Given the description of an element on the screen output the (x, y) to click on. 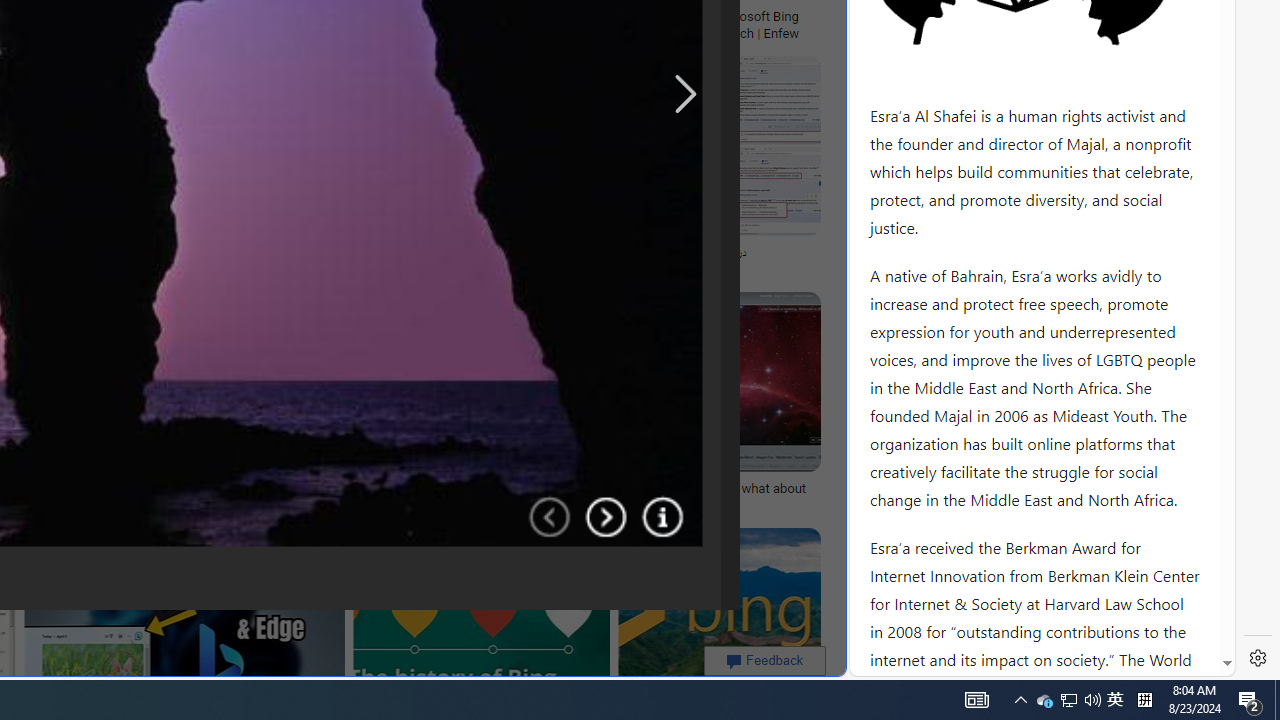
microsoft bing (463, 16)
microsoft bing (555, 16)
Remove the 'News & Interests' bar from Bing | TechLife (233, 16)
Bing (2009) (RARE/FAKE) - YouTube (377, 253)
